Given the description of an element on the screen output the (x, y) to click on. 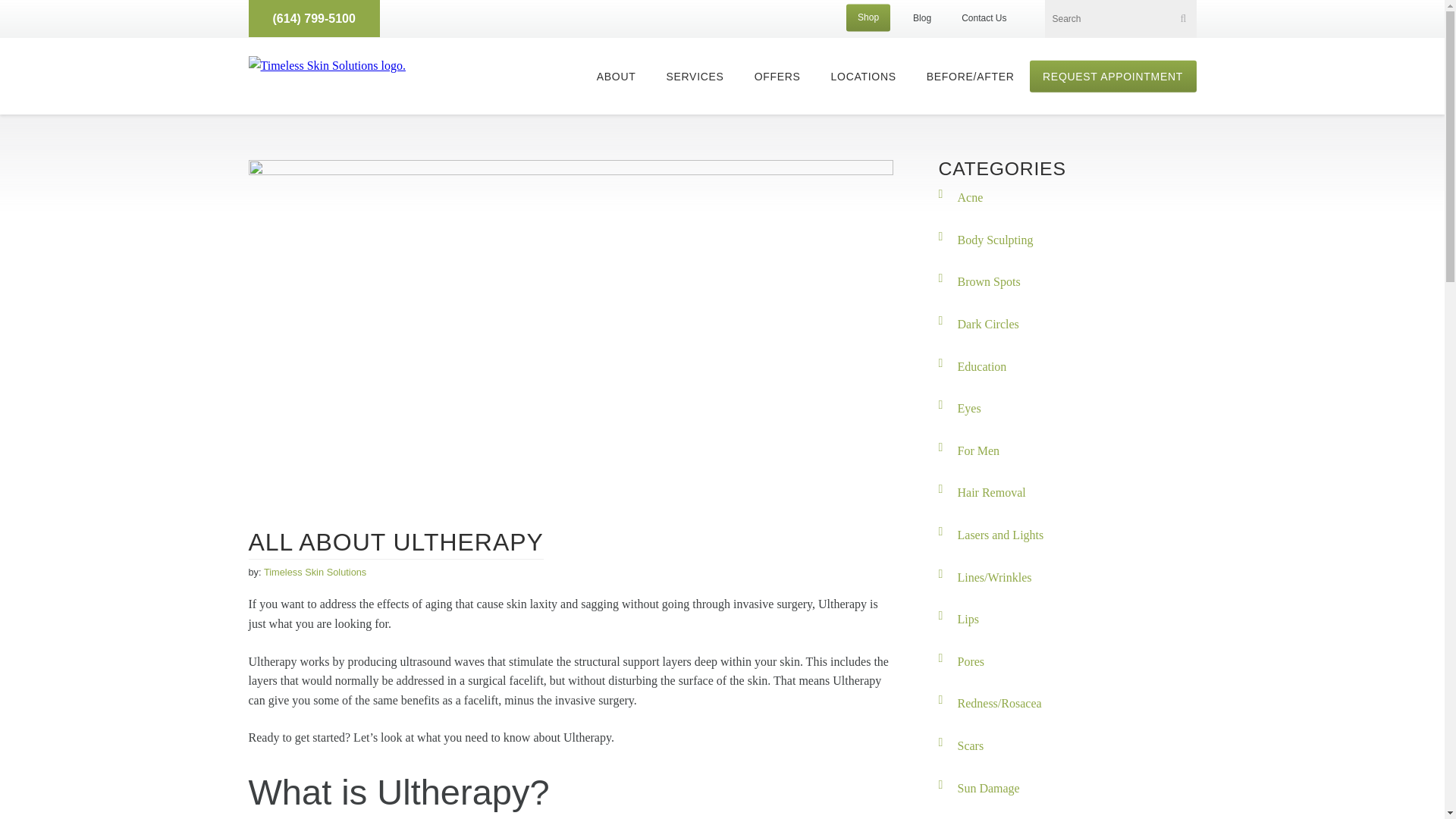
SERVICES (694, 75)
ABOUT (616, 75)
Contact Us (983, 18)
Shop (867, 17)
Blog (922, 18)
